Given the description of an element on the screen output the (x, y) to click on. 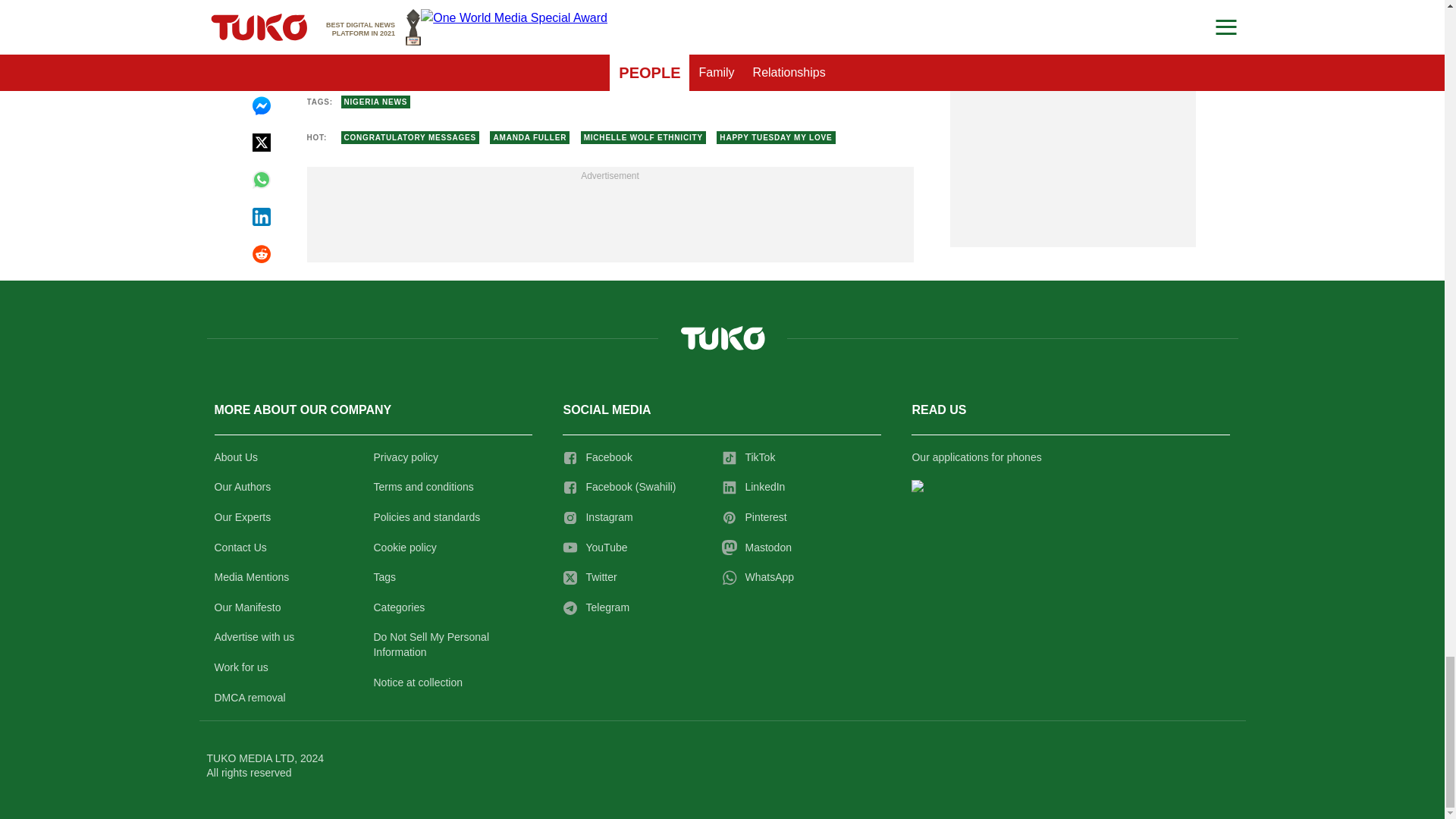
Author page (453, 52)
Author page (765, 52)
